Given the description of an element on the screen output the (x, y) to click on. 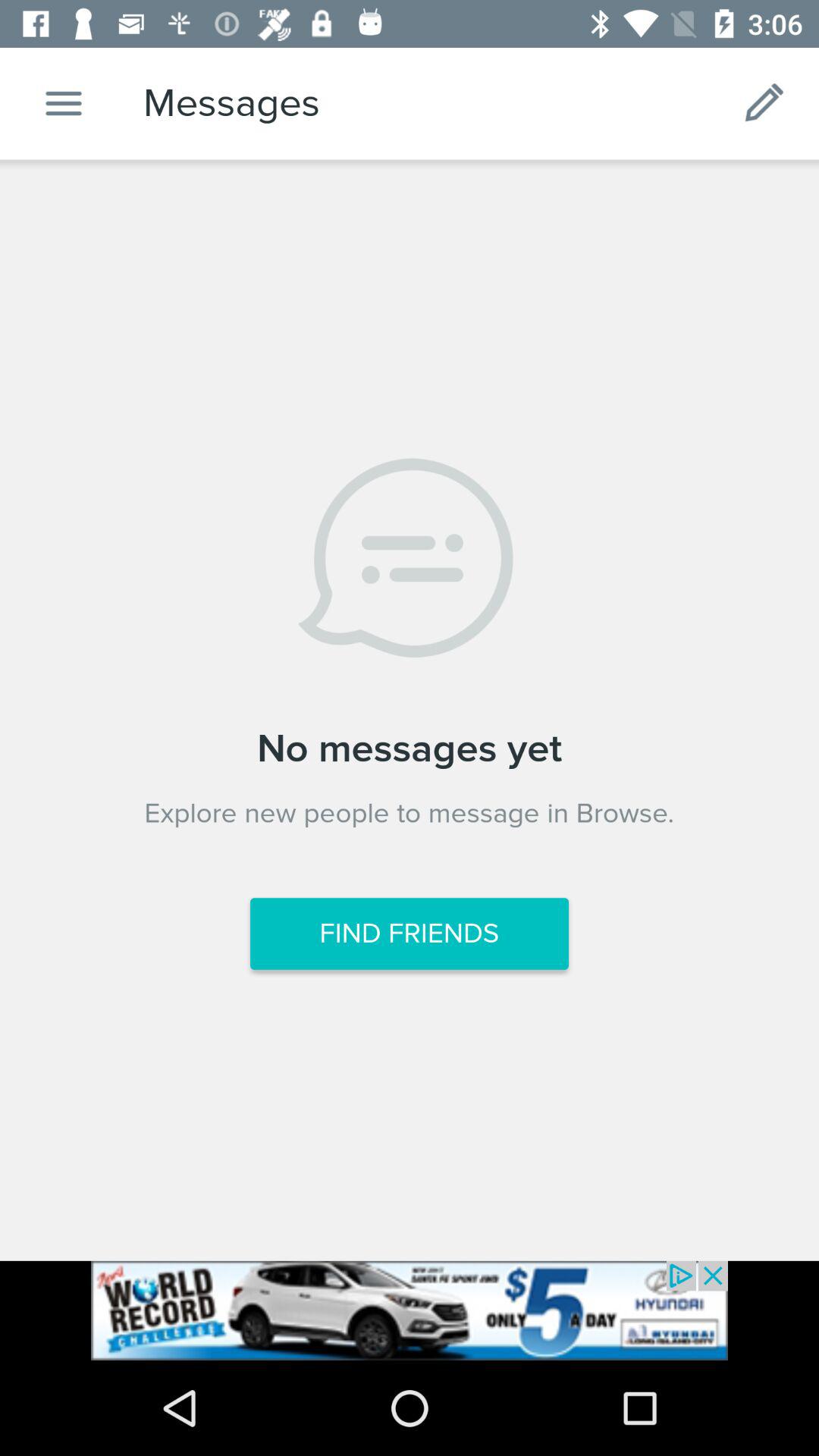
visit the hyundai site (409, 1310)
